Given the description of an element on the screen output the (x, y) to click on. 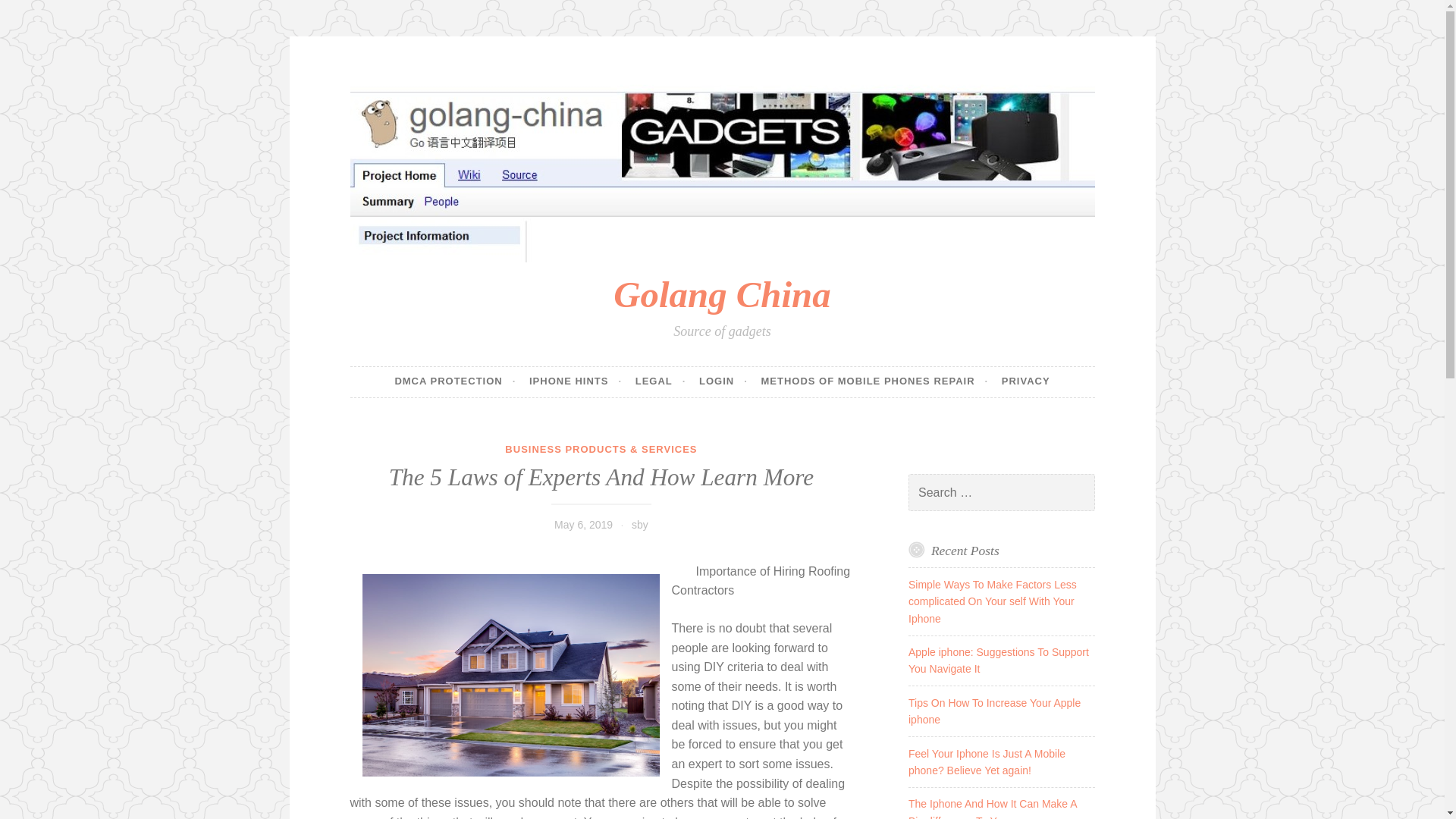
METHODS OF MOBILE PHONES REPAIR (874, 381)
Feel Your Iphone Is Just A Mobile phone? Believe Yet again! (986, 761)
sby (639, 524)
Golang China (720, 294)
May 6, 2019 (583, 524)
DMCA PROTECTION (454, 381)
Tips On How To Increase Your Apple iphone (994, 710)
LOGIN (723, 381)
Search (33, 13)
